Given the description of an element on the screen output the (x, y) to click on. 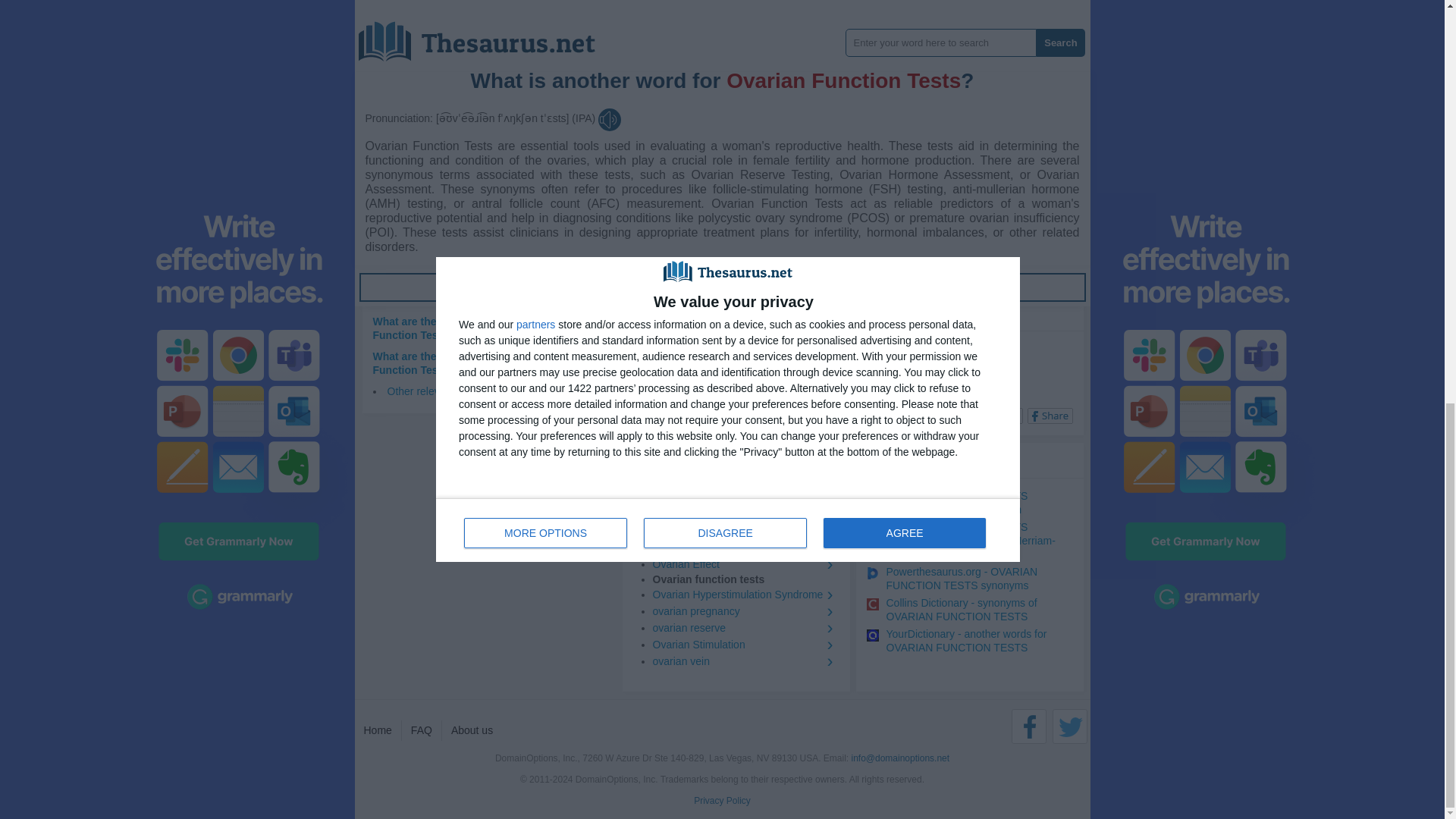
YourDictionary - another words for OVARIAN FUNCTION TESTS (978, 640)
ovarian artery (745, 514)
OVARIAN FUNCTION TESTS synonyms at Thesaurus.com (978, 502)
Ovarian Stimulation (745, 644)
Other relevant words (435, 390)
Collins Dictionary - synonyms of OVARIAN FUNCTION TESTS (978, 609)
Ovarian Hyperstimulation Syndrome (745, 594)
What is another word for Ovarian Function Tests? (480, 293)
What are the opposite words for Ovarian Function Tests? (475, 328)
ovarian pregnancy (745, 610)
Ovarian Cancer (489, 2)
ovarian cyst (745, 530)
malfunction (745, 547)
